Given the description of an element on the screen output the (x, y) to click on. 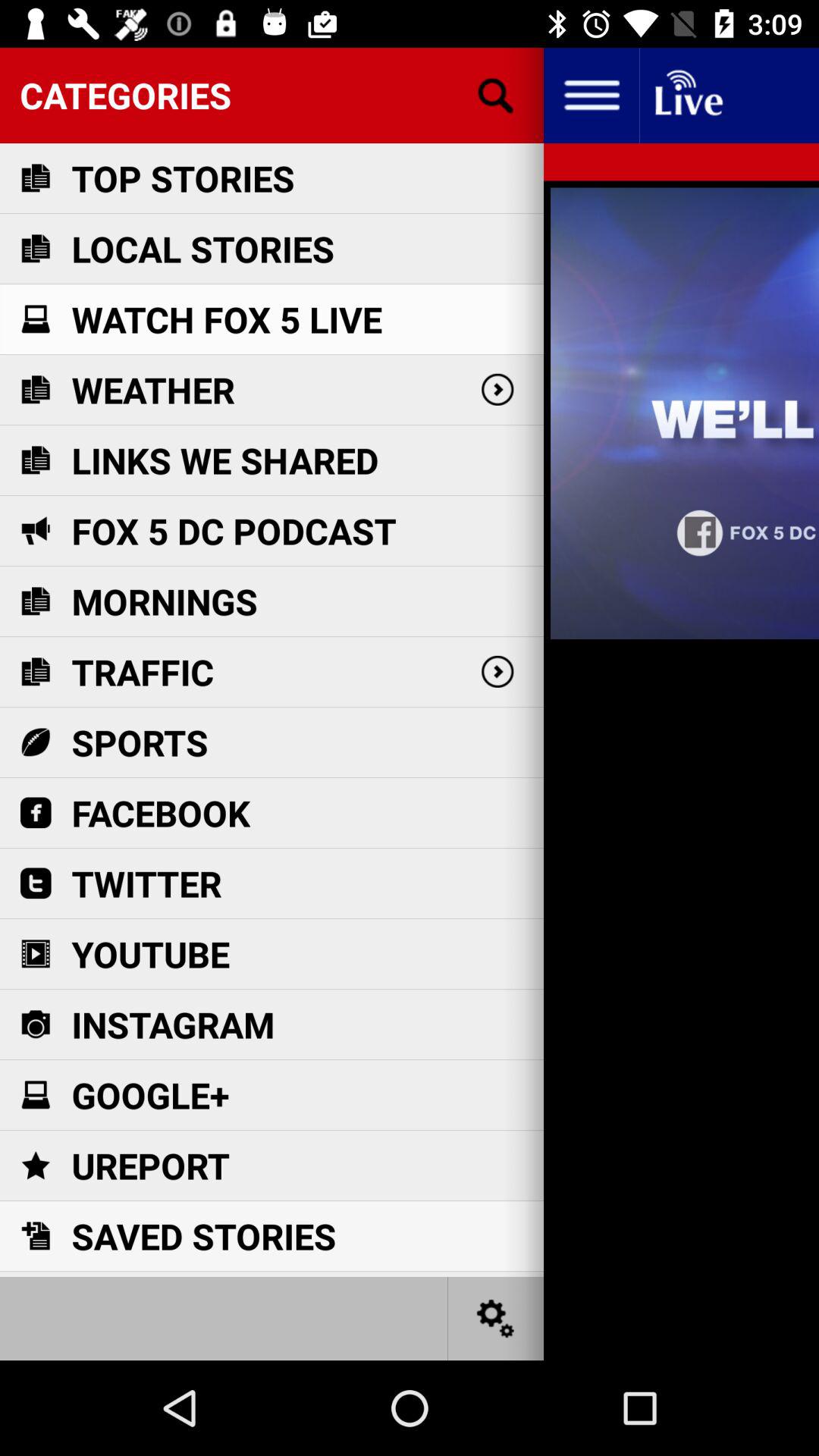
click twitter (146, 883)
